Given the description of an element on the screen output the (x, y) to click on. 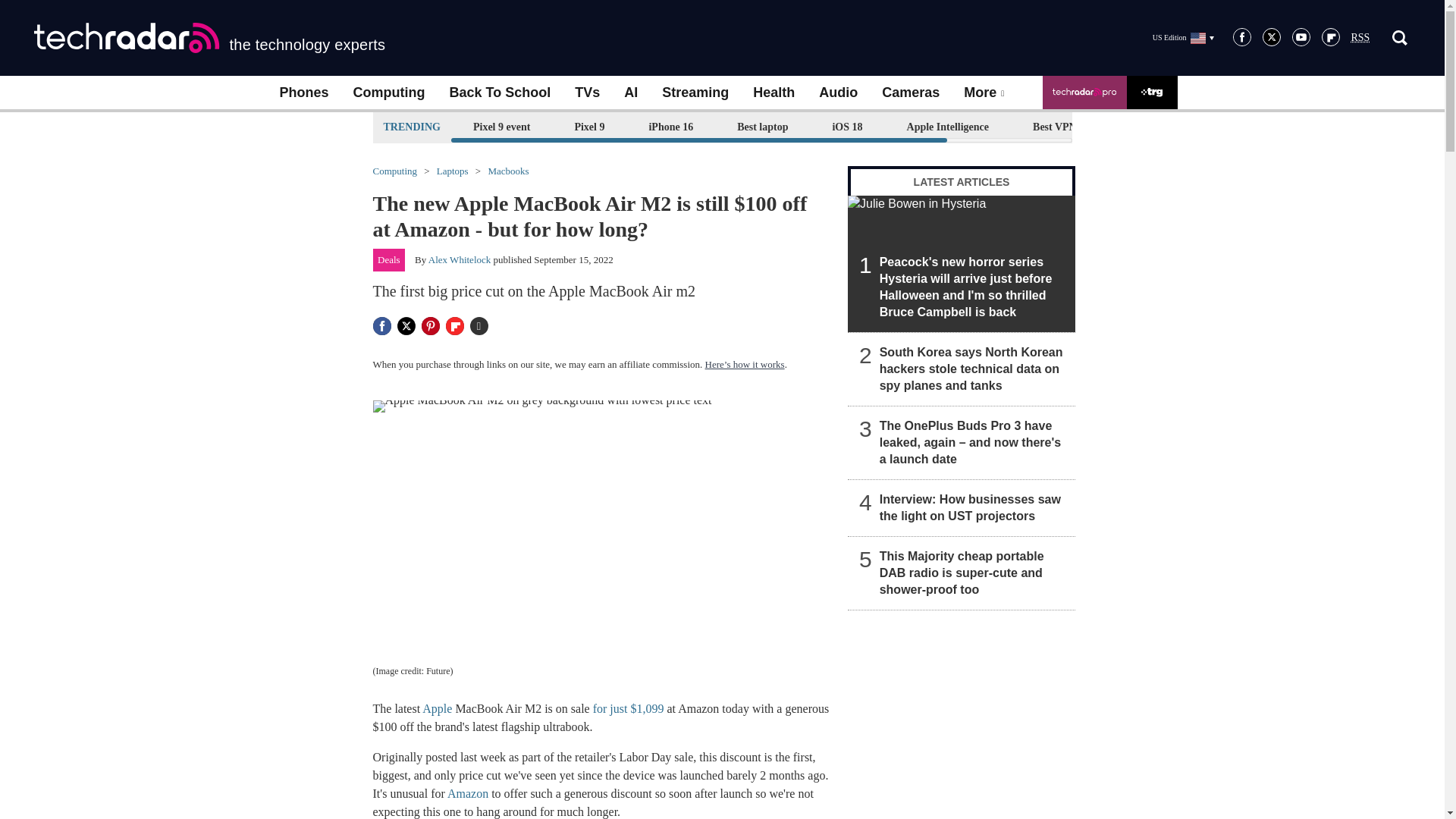
the technology experts (209, 38)
Streaming (695, 92)
AI (630, 92)
US Edition (1182, 37)
Back To School (499, 92)
TVs (586, 92)
Computing (389, 92)
Phones (303, 92)
Audio (837, 92)
